Given the description of an element on the screen output the (x, y) to click on. 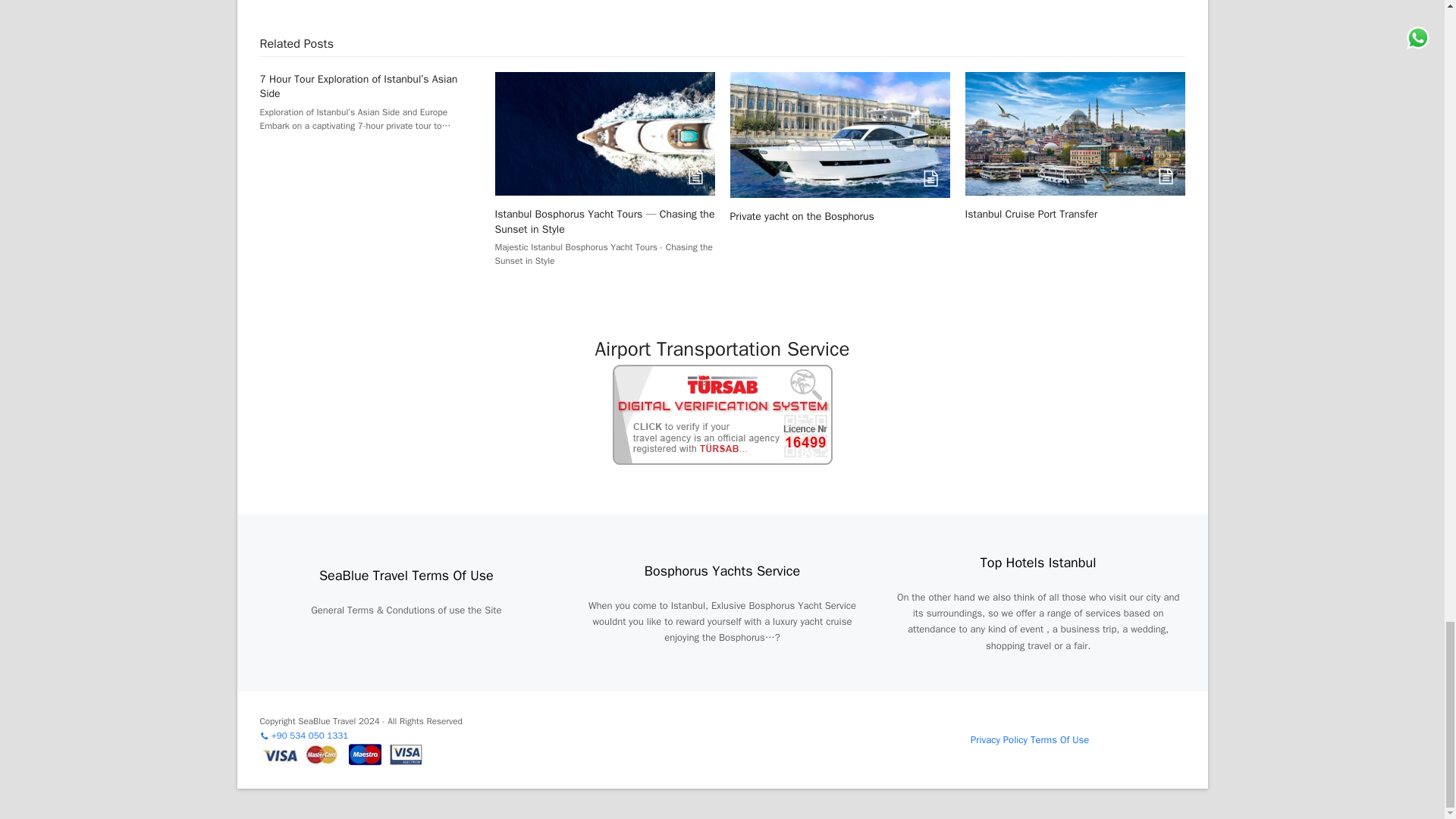
tursab dvs 16499 (722, 414)
visa master mastero electron (342, 753)
